Given the description of an element on the screen output the (x, y) to click on. 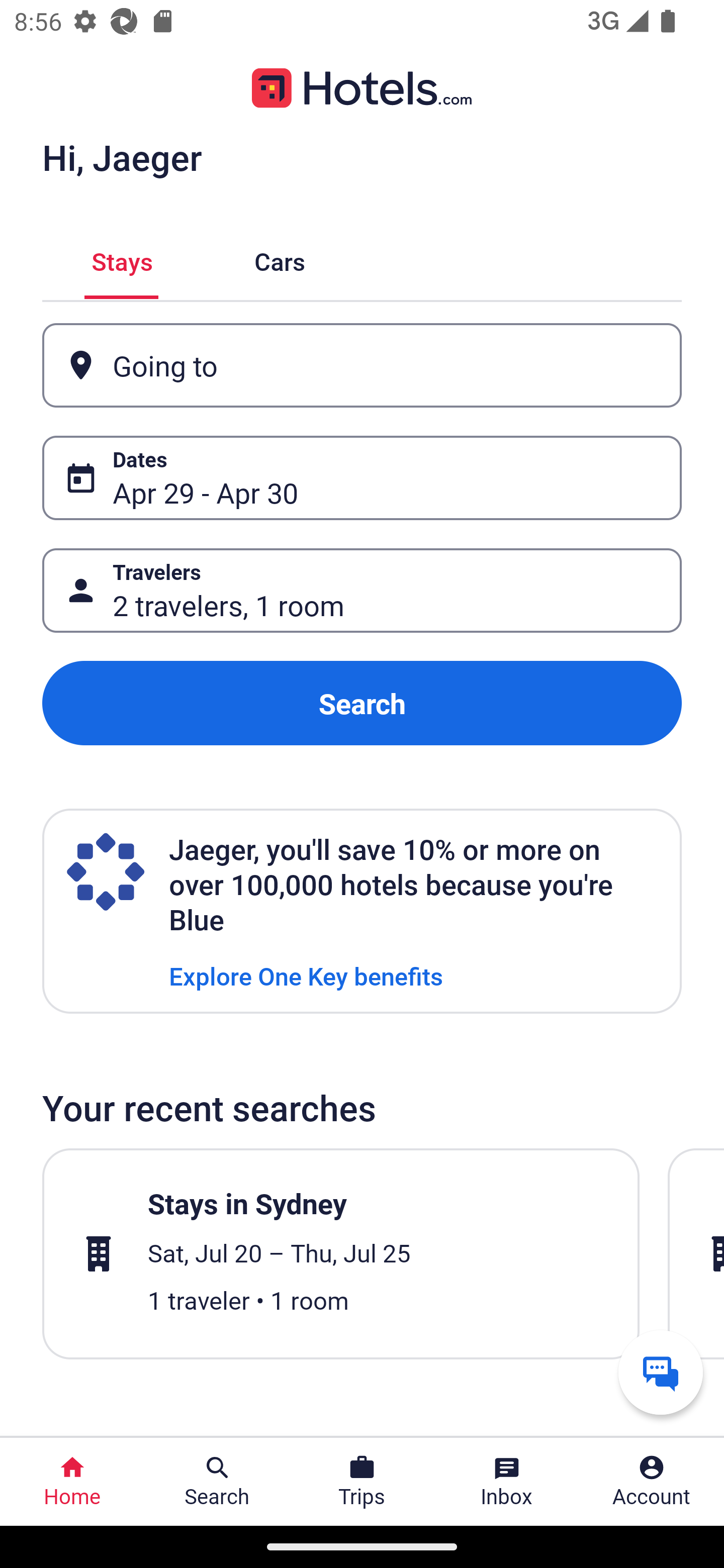
Hi, Jaeger (121, 156)
Cars (279, 259)
Going to Button (361, 365)
Dates Button Apr 29 - Apr 30 (361, 477)
Travelers Button 2 travelers, 1 room (361, 590)
Search (361, 702)
Get help from a virtual agent (660, 1371)
Search Search Button (216, 1481)
Trips Trips Button (361, 1481)
Inbox Inbox Button (506, 1481)
Account Profile. Button (651, 1481)
